Given the description of an element on the screen output the (x, y) to click on. 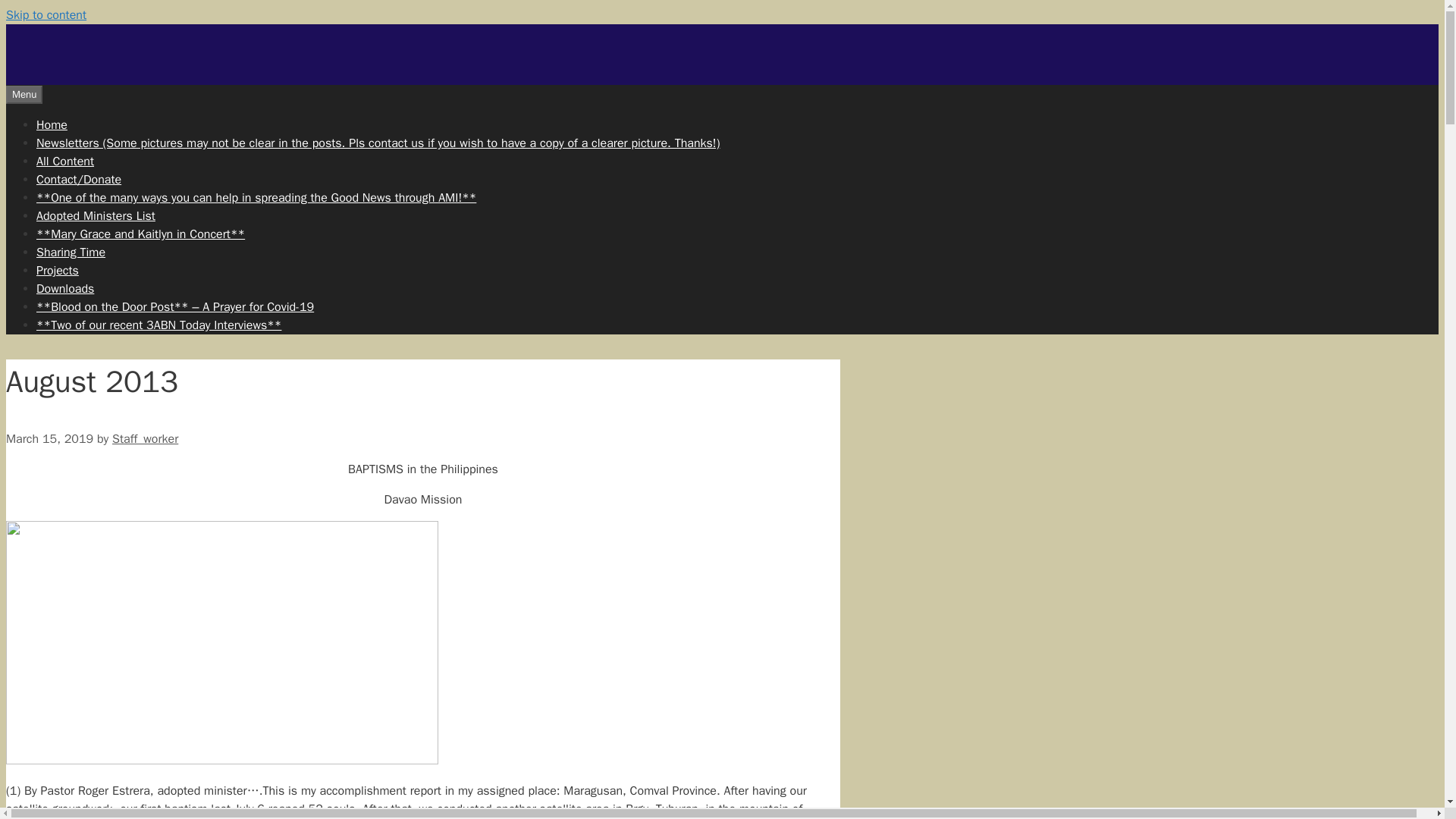
All Content (65, 160)
Skip to content (45, 14)
Skip to content (45, 14)
Sharing Time (70, 252)
Adopted Ministers List (95, 215)
Downloads (65, 288)
Menu (23, 94)
Projects (57, 270)
Home (51, 124)
